Given the description of an element on the screen output the (x, y) to click on. 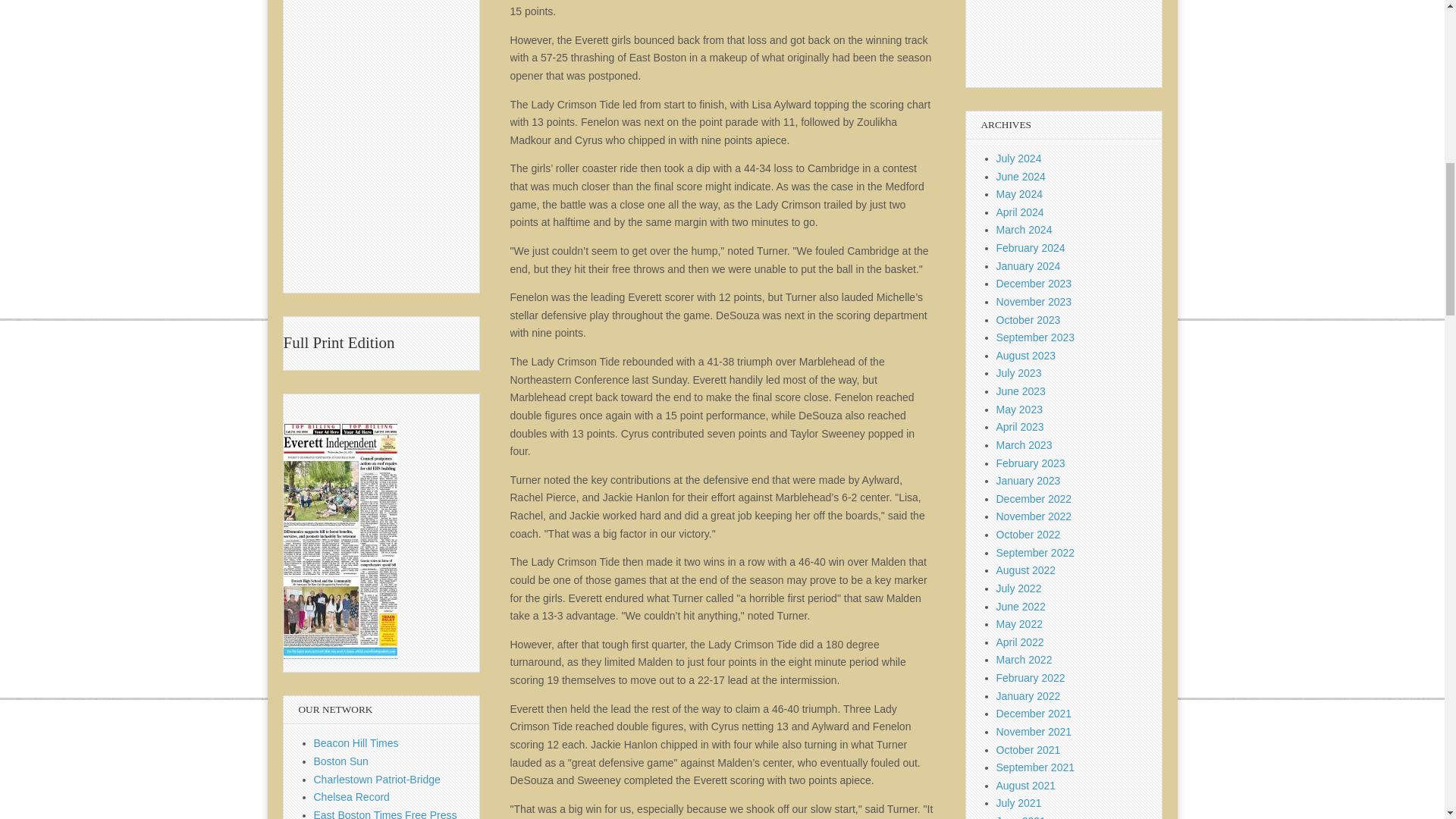
Boston Sun (341, 761)
East Boston Times Free Press (385, 814)
Charlestown Patriot-Bridge (377, 779)
Chelsea Record (352, 797)
Beacon Hill Times (356, 743)
